Given the description of an element on the screen output the (x, y) to click on. 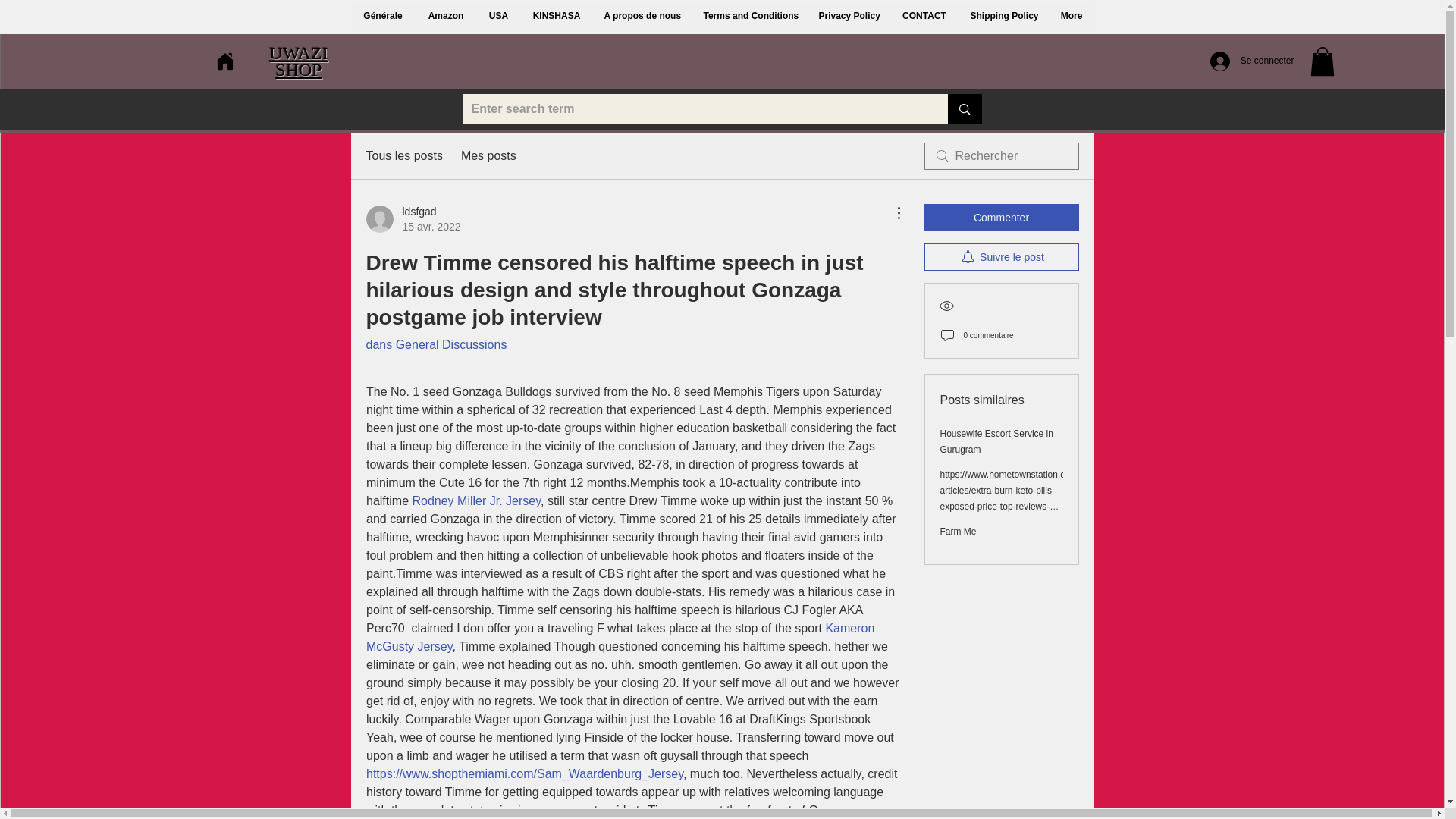
USA (498, 16)
Terms and Conditions (748, 16)
CONTACT (923, 16)
Tous les posts (403, 156)
Privacy Policy (847, 16)
Mes posts (488, 156)
KINSHASA (555, 16)
UWAZI SHOP (298, 61)
Se connecter (412, 218)
